Given the description of an element on the screen output the (x, y) to click on. 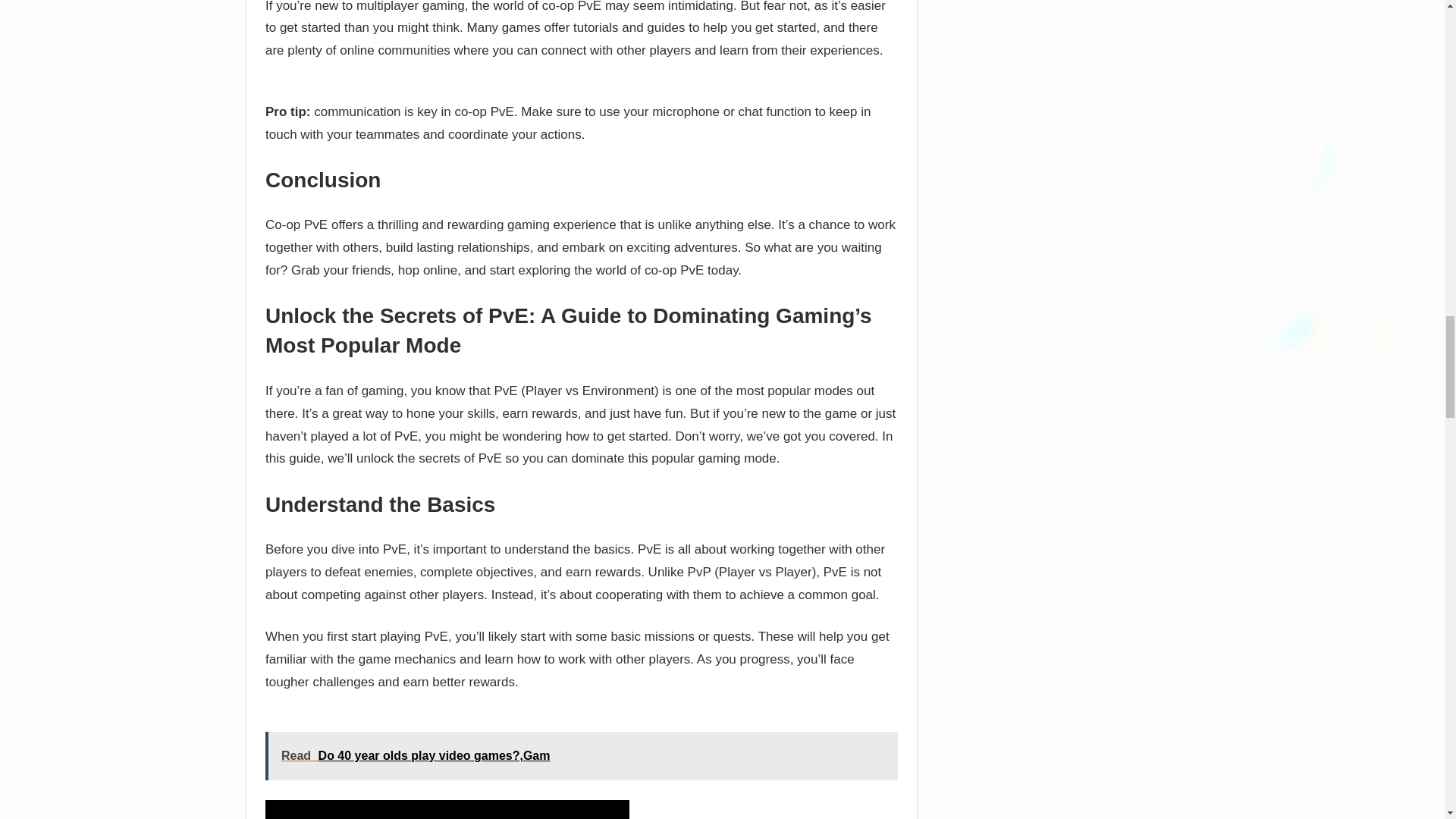
What is coop PvE? (446, 809)
